Given the description of an element on the screen output the (x, y) to click on. 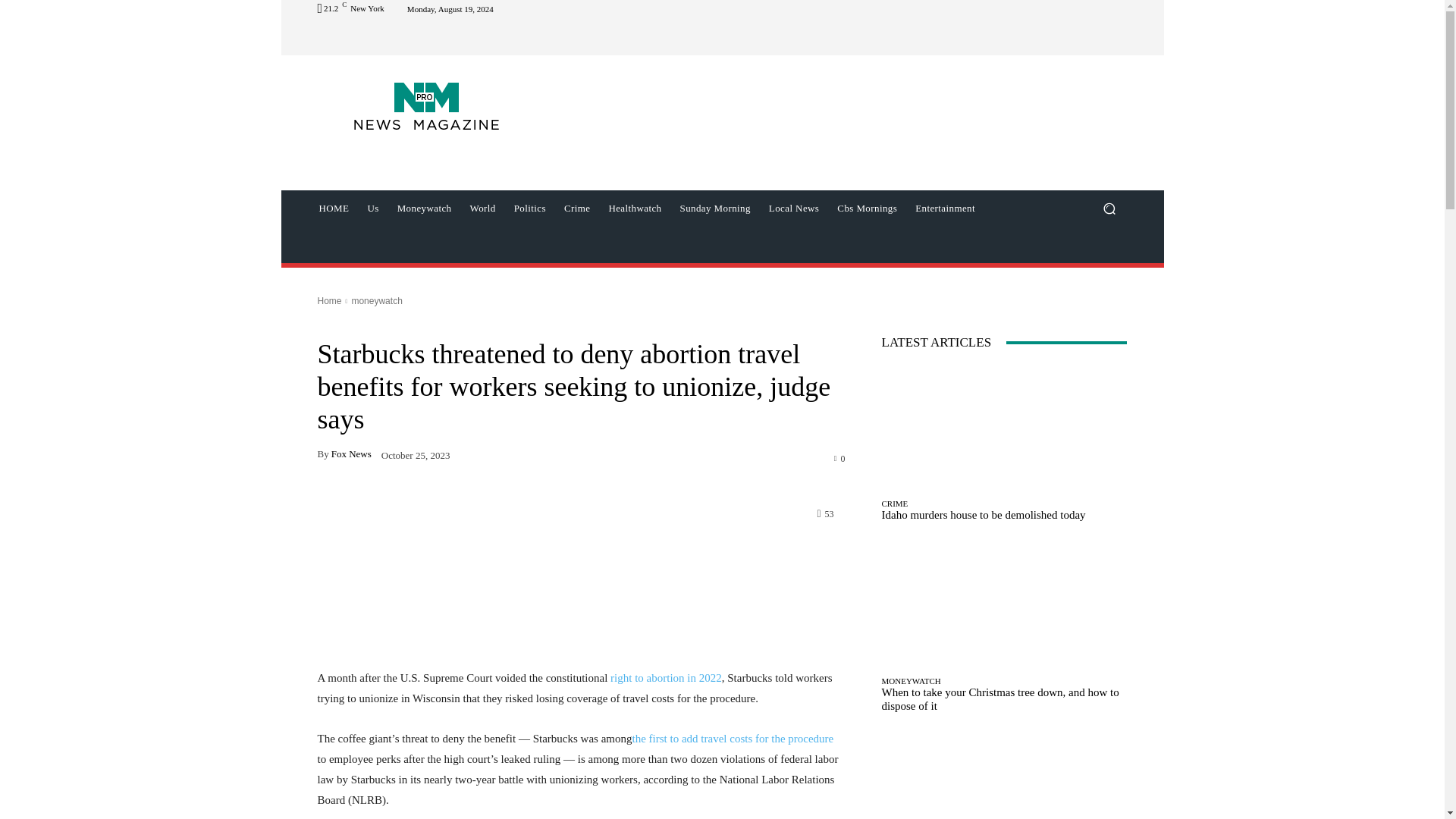
Crime (576, 208)
Healthwatch (633, 208)
Moneywatch (424, 208)
Entertainment (944, 208)
Politics (529, 208)
View all posts in moneywatch (375, 300)
World (483, 208)
Home (328, 300)
Local News (794, 208)
Sunday Morning (713, 208)
